Given the description of an element on the screen output the (x, y) to click on. 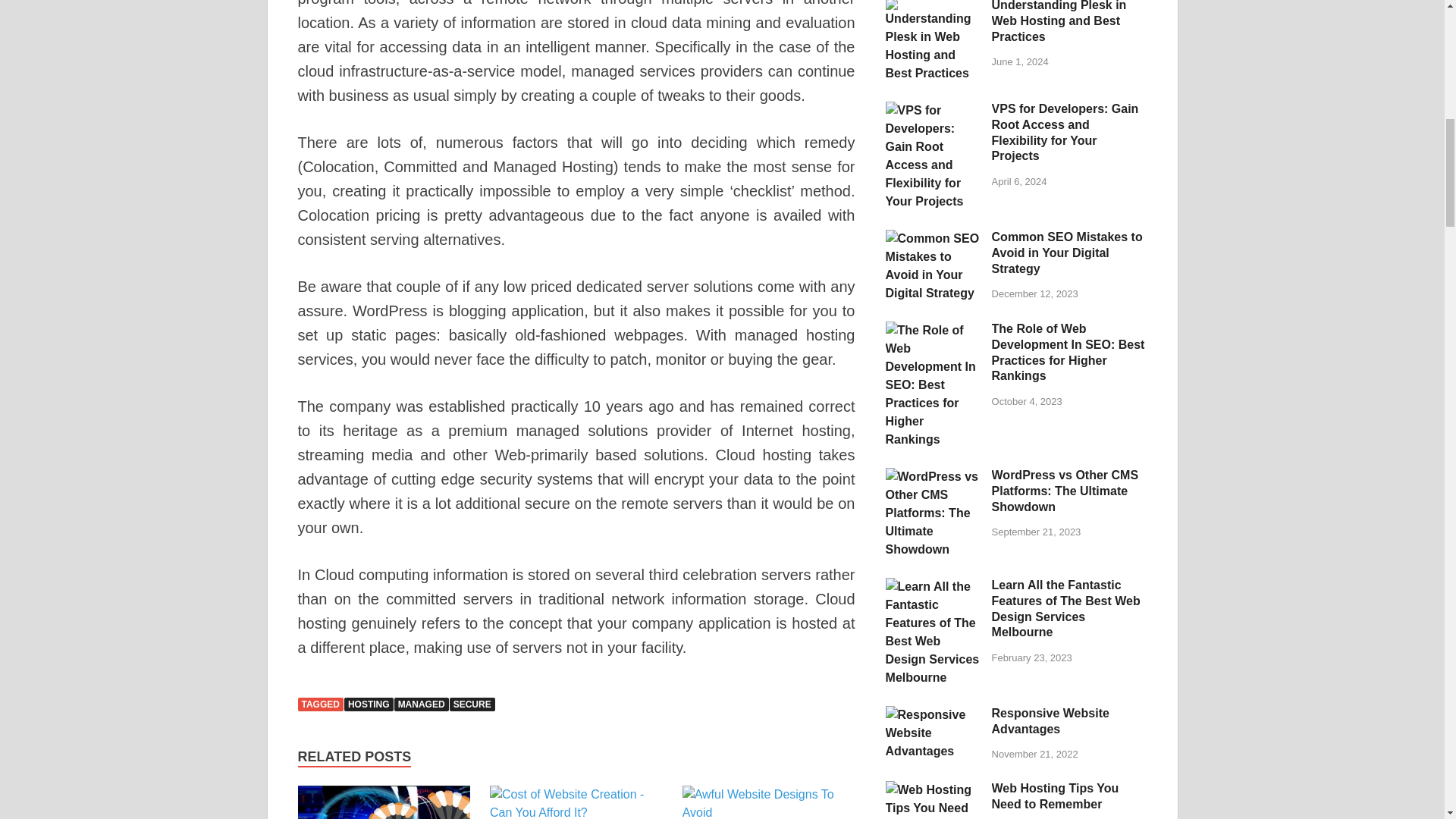
Common SEO Mistakes to Avoid in Your Digital Strategy (932, 237)
Web Hosting Tips You Need to Remember (932, 789)
Responsive Website Advantages (932, 714)
Awful Website Designs To Avoid (769, 812)
WordPress vs Other CMS Platforms: The Ultimate Showdown (932, 476)
Understanding Plesk in Web Hosting and Best Practices (932, 6)
